Given the description of an element on the screen output the (x, y) to click on. 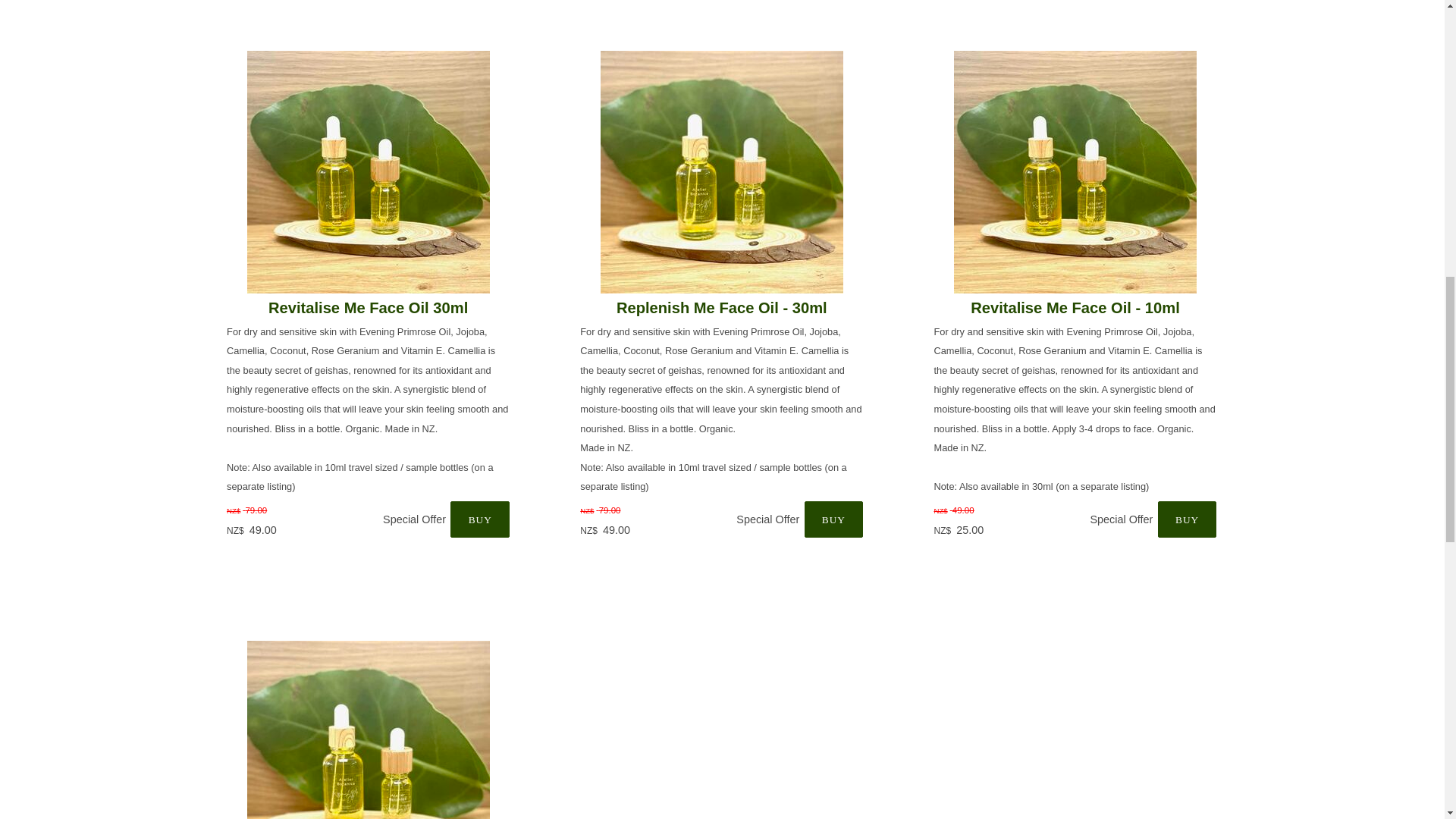
Buy (834, 519)
Buy (1187, 519)
Revitalise Me Face Oil 30ml (367, 307)
Replenish Me Face Oil - 30ml (721, 307)
Revitalise Me Face Oil - 10ml (1075, 307)
Buy (479, 519)
